Given the description of an element on the screen output the (x, y) to click on. 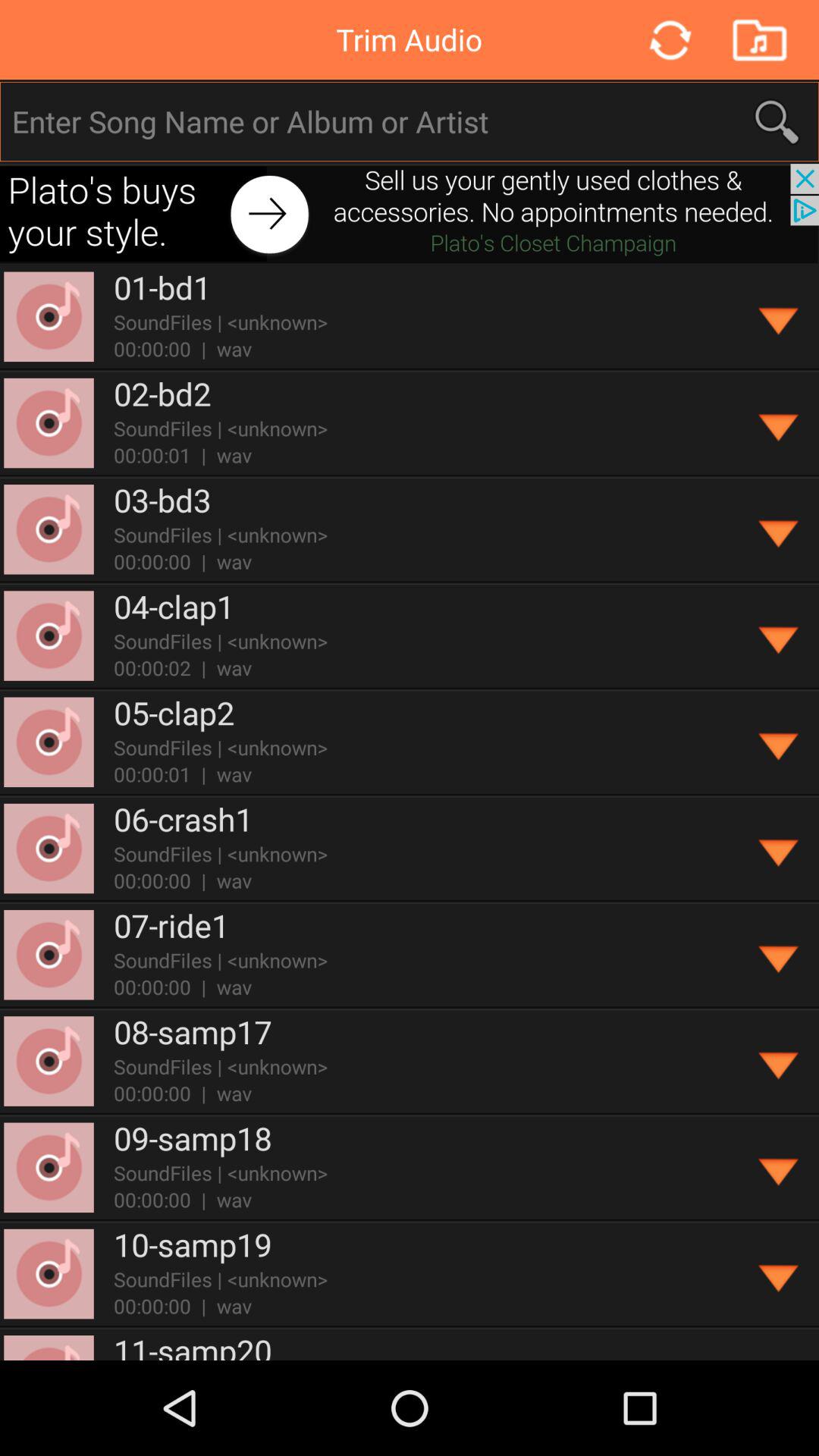
open up details (779, 848)
